Given the description of an element on the screen output the (x, y) to click on. 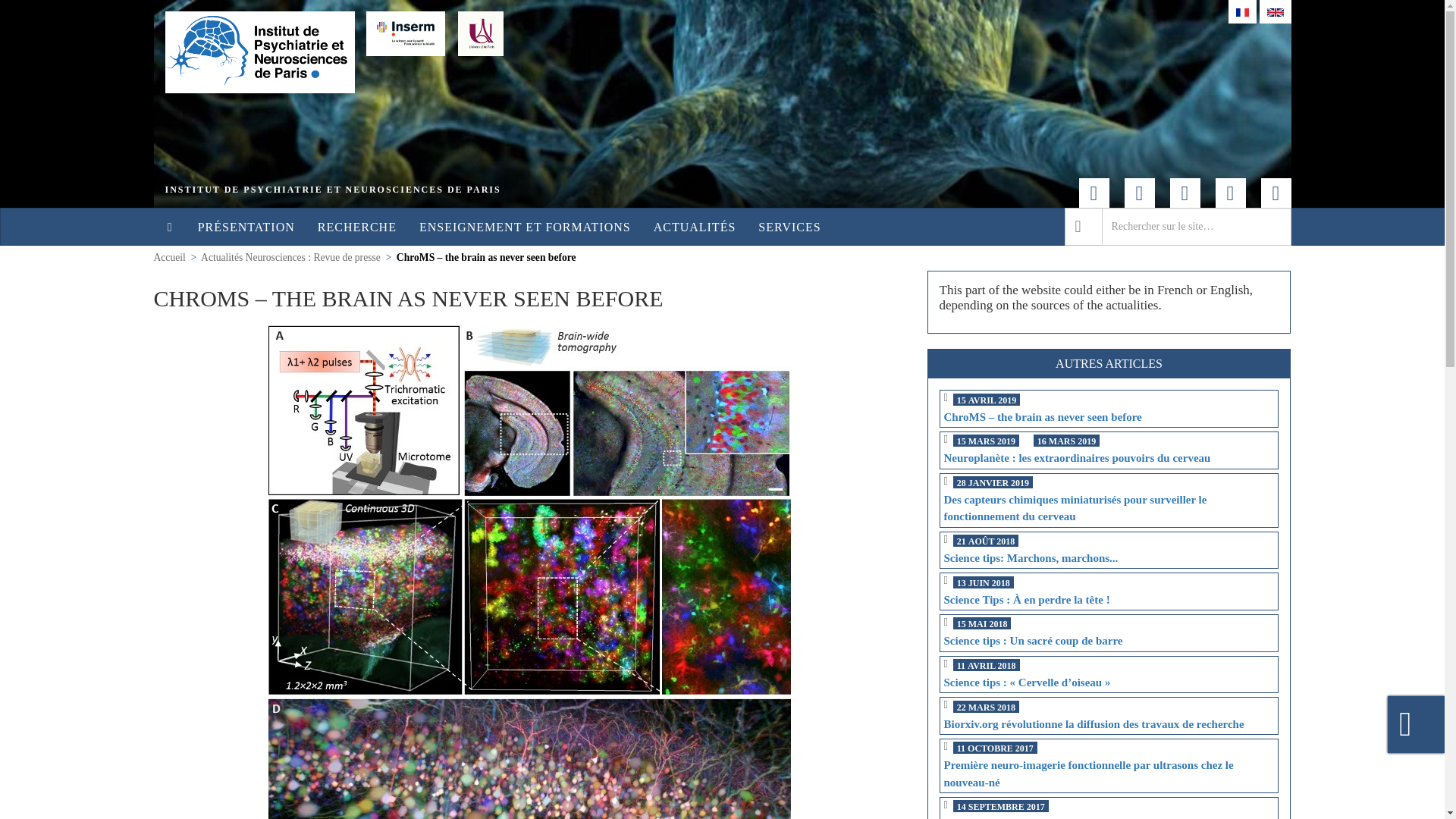
RECHERCHE (356, 226)
partager sur linkedin (1275, 193)
SERVICES (788, 226)
ENSEIGNEMENT ET FORMATIONS (524, 226)
Partager sur Facebook (1139, 193)
Partager par email (1093, 193)
Partager sur Twitter (1184, 193)
